Given the description of an element on the screen output the (x, y) to click on. 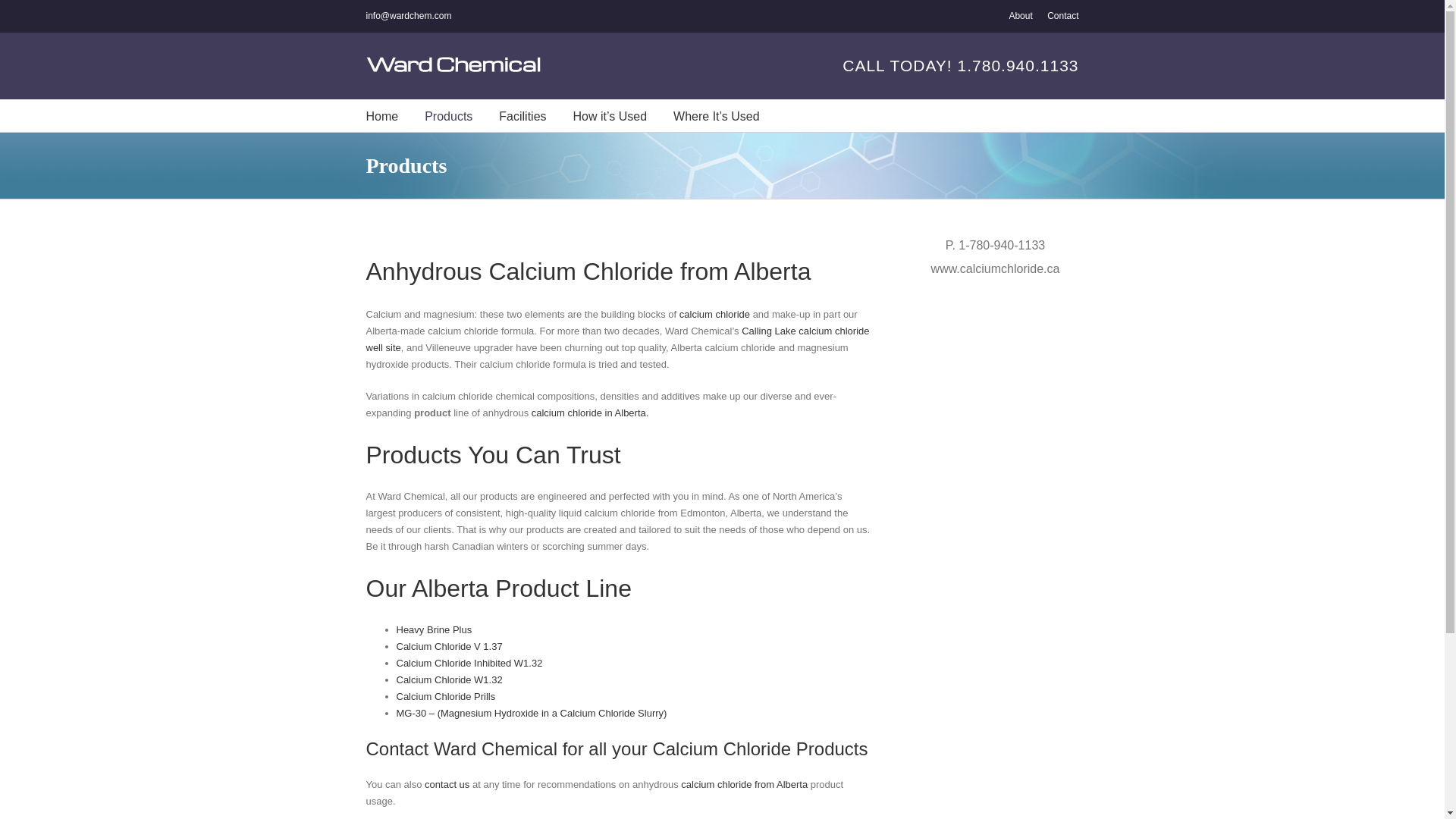
Contact (446, 784)
Heavy Brine Plus (433, 629)
Products (448, 115)
Facilities (522, 115)
Calcium Chloride Prills (445, 696)
Calcium Chloride Inhibited W1.32 (468, 663)
Home (381, 115)
Anhydrous Calcium Chloride V 1.37 (449, 645)
About (1020, 15)
Contact (1062, 15)
